Given the description of an element on the screen output the (x, y) to click on. 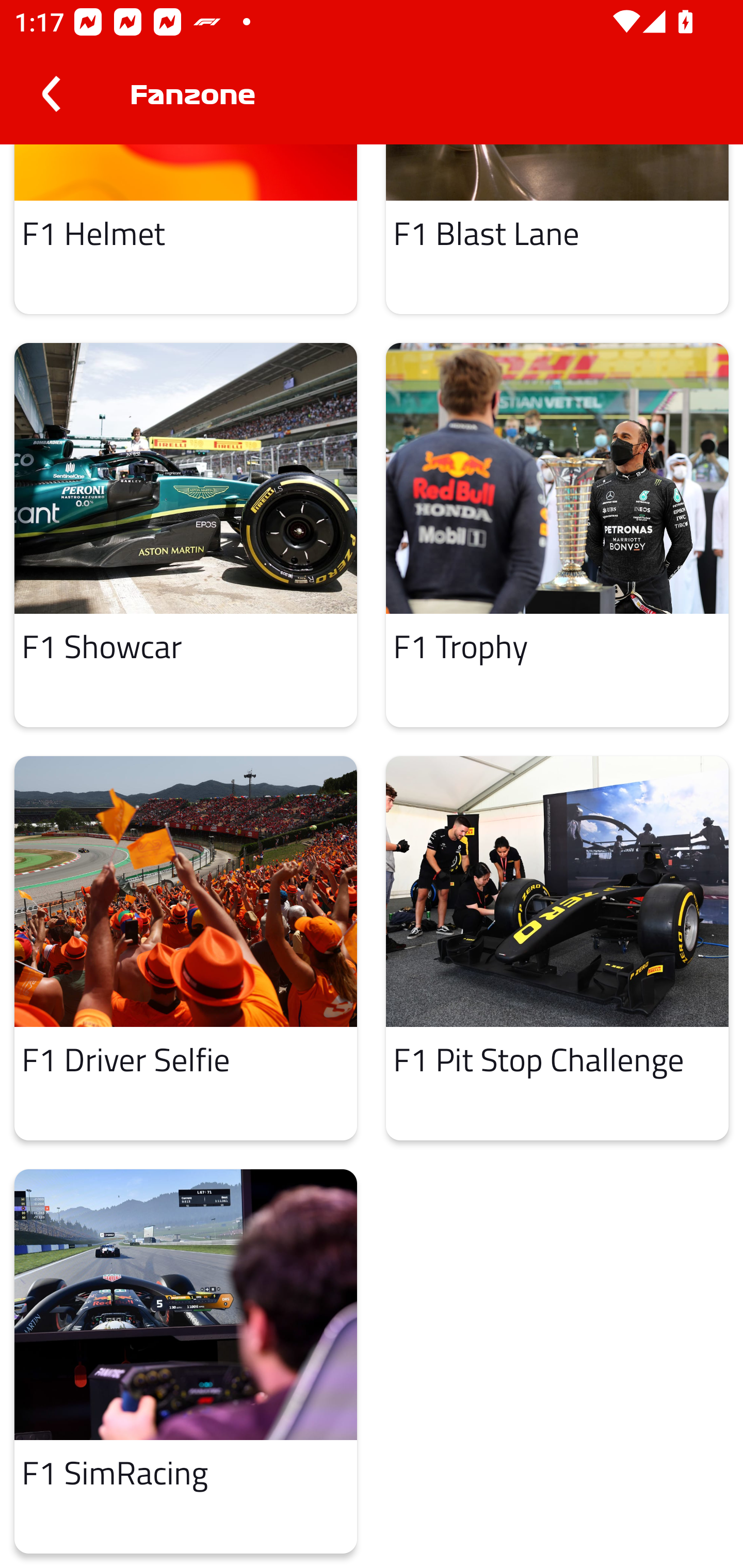
Navigate up (50, 93)
F1 Helmet (185, 228)
F1 Blast Lane (556, 228)
F1 Showcar (185, 535)
F1 Trophy (556, 535)
F1 Driver Selfie (185, 947)
F1 Pit Stop Challenge (556, 947)
F1 SimRacing (185, 1361)
